Given the description of an element on the screen output the (x, y) to click on. 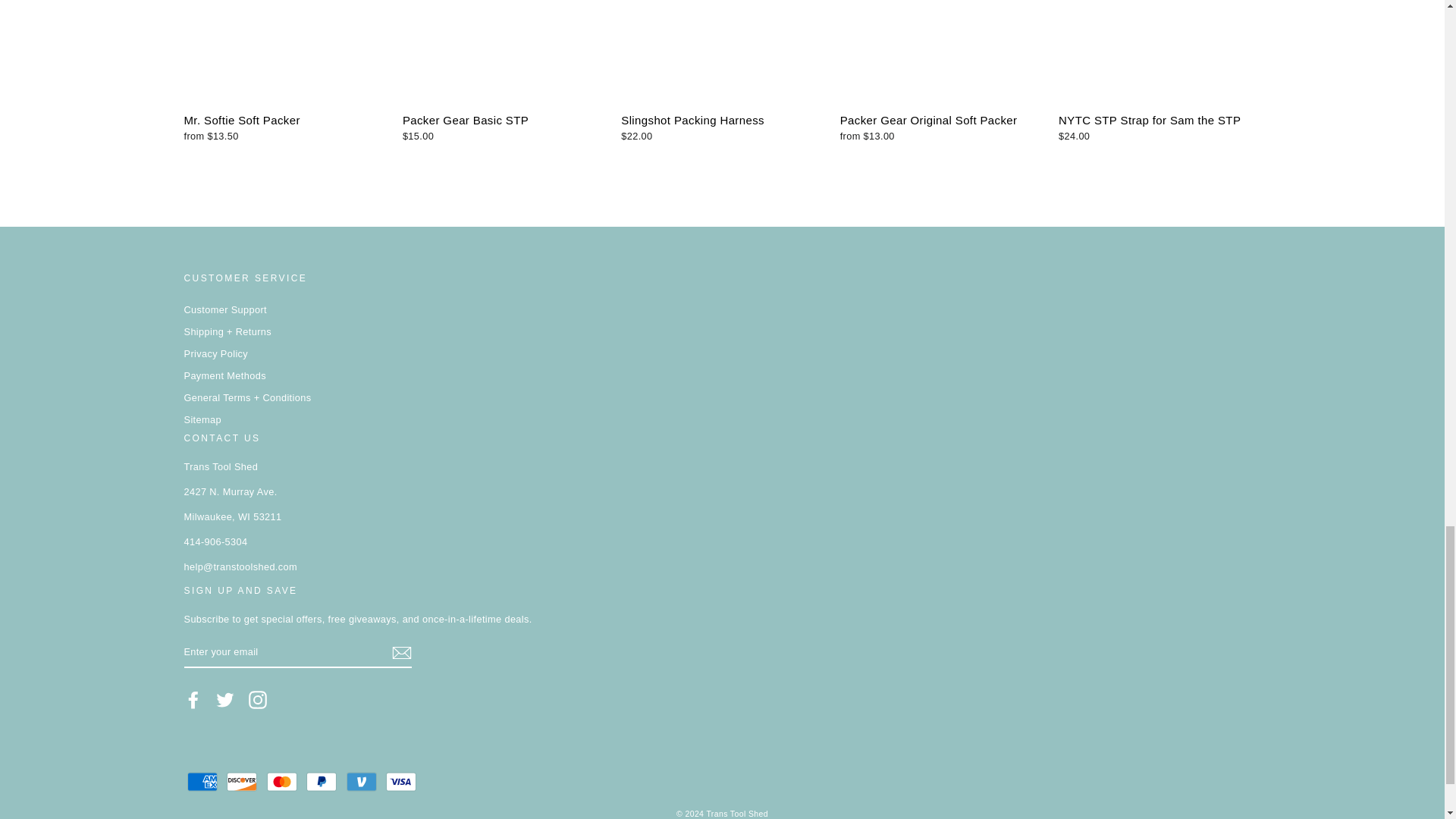
American Express (201, 781)
Trans Tool Shed on Facebook (192, 700)
Trans Tool Shed on Instagram (257, 700)
Trans Tool Shed on Twitter (224, 700)
